Given the description of an element on the screen output the (x, y) to click on. 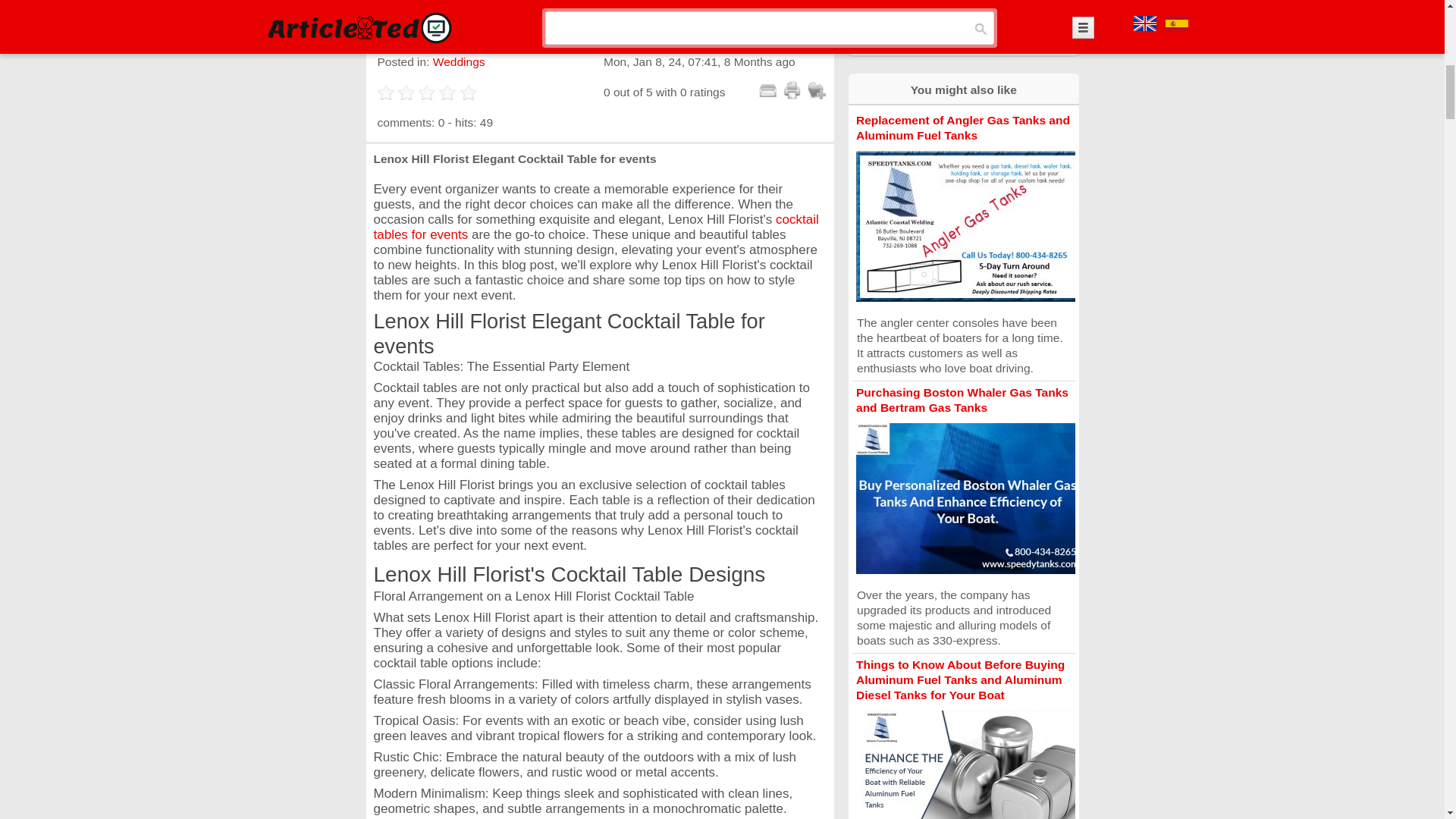
Purchasing Boston Whaler Gas Tanks and Bertram Gas Tanks (962, 399)
cocktail tables for events (595, 226)
Weddings (458, 61)
Replacement of Angler Gas Tanks and Aluminum Fuel Tanks (963, 127)
